Given the description of an element on the screen output the (x, y) to click on. 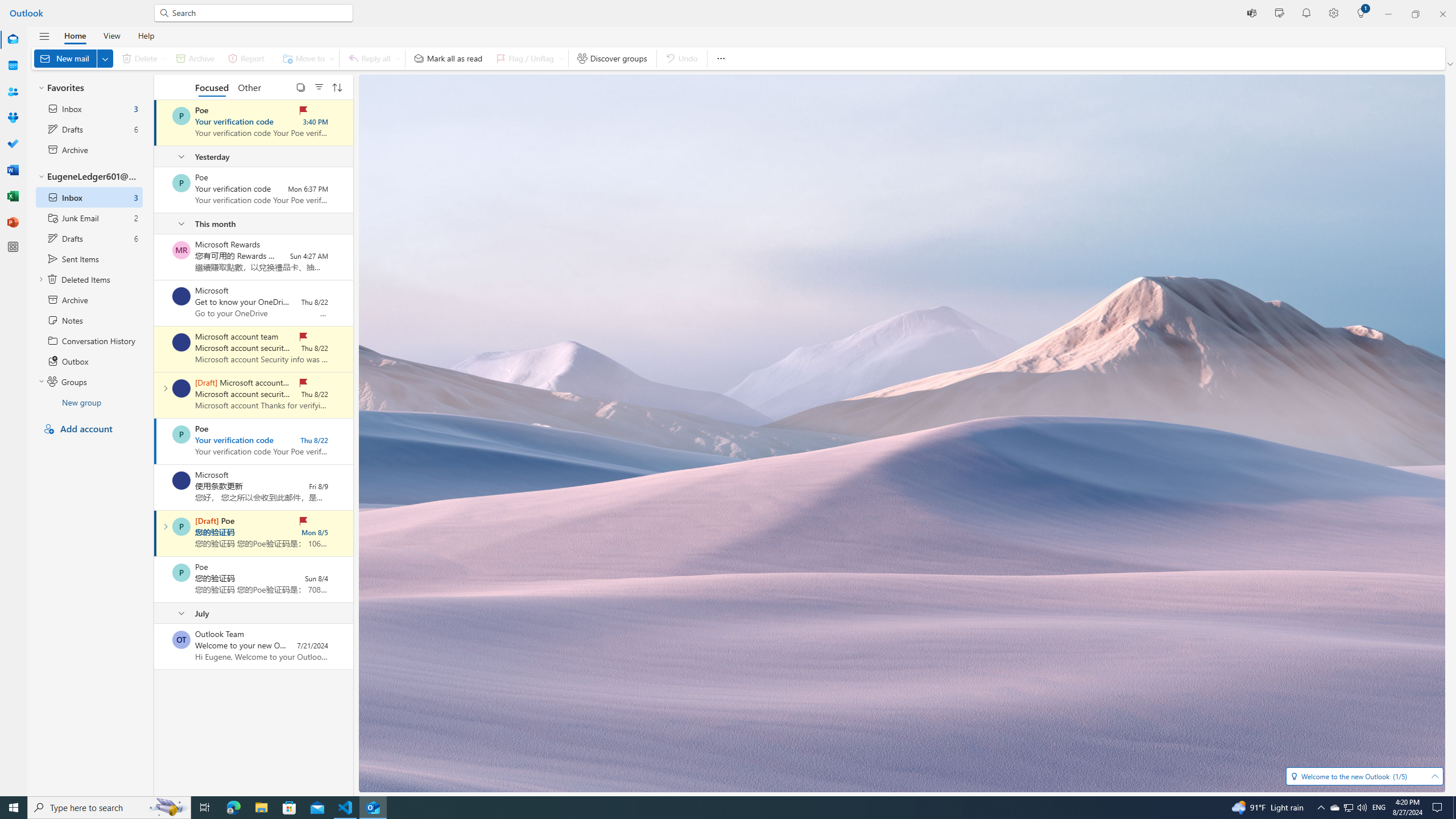
Report (248, 58)
PowerPoint (12, 222)
Mark as read (154, 533)
Word (12, 169)
Add account (89, 429)
Flag / Unflag (527, 58)
Discover groups (611, 58)
Archive (194, 58)
Ribbon display options (1450, 63)
Expand to see more New options (104, 58)
Notes (89, 319)
Groups (12, 118)
